Given the description of an element on the screen output the (x, y) to click on. 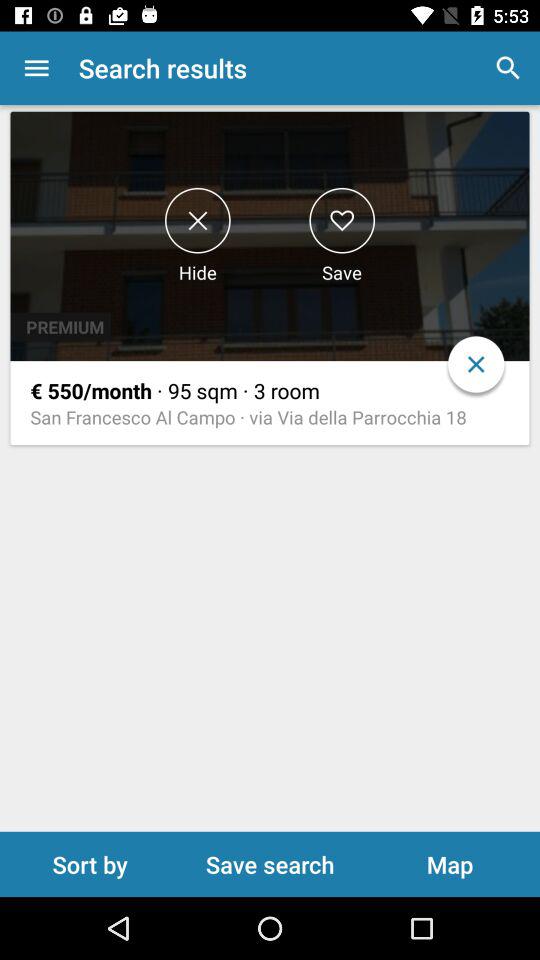
click item below the san francesco al icon (90, 863)
